Given the description of an element on the screen output the (x, y) to click on. 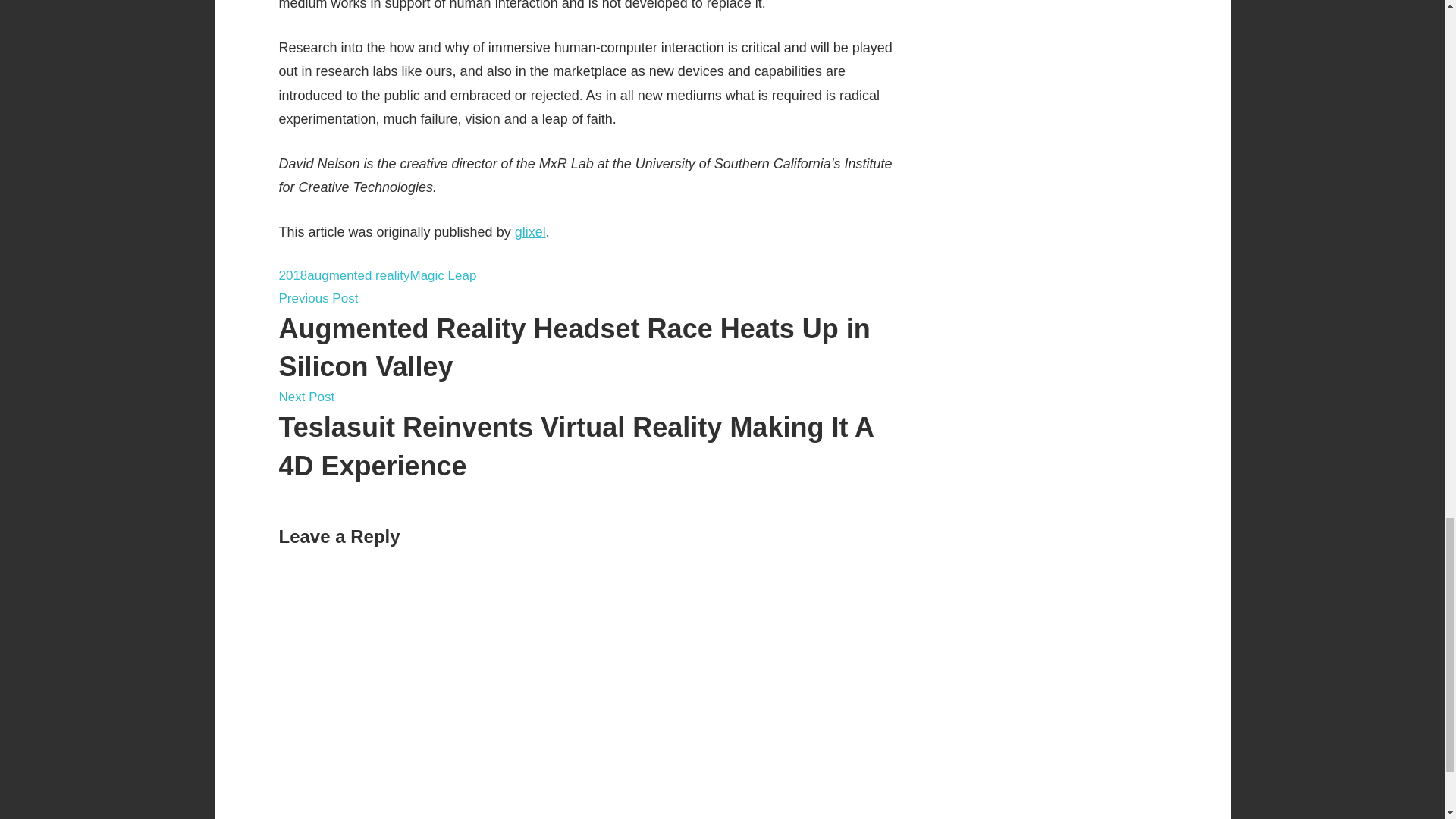
2018 (293, 275)
augmented reality (358, 275)
glixel (530, 231)
Magic Leap (442, 275)
